Given the description of an element on the screen output the (x, y) to click on. 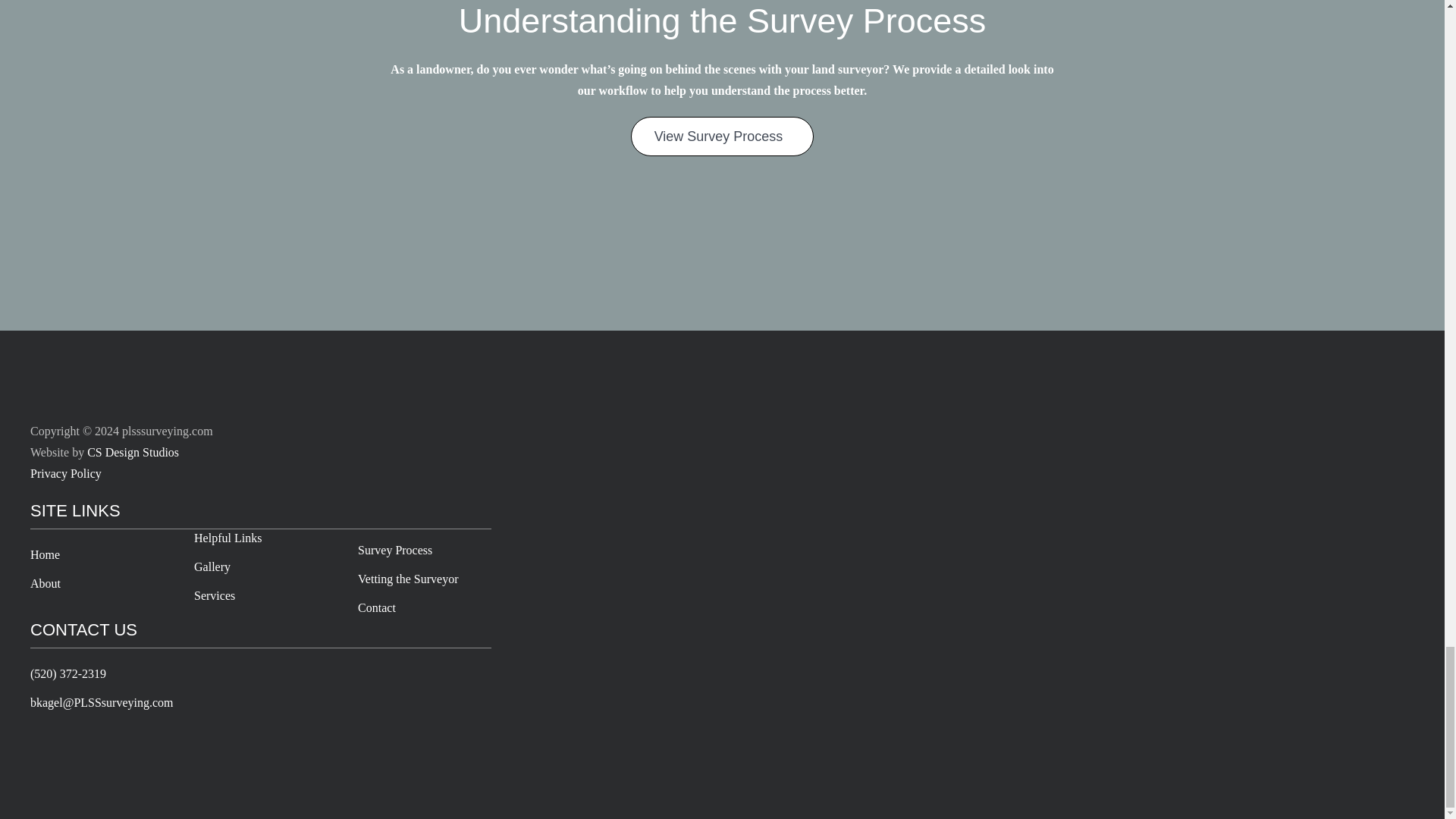
CS Design Studios (133, 451)
View Survey Process (721, 136)
Privacy Policy (65, 472)
